Given the description of an element on the screen output the (x, y) to click on. 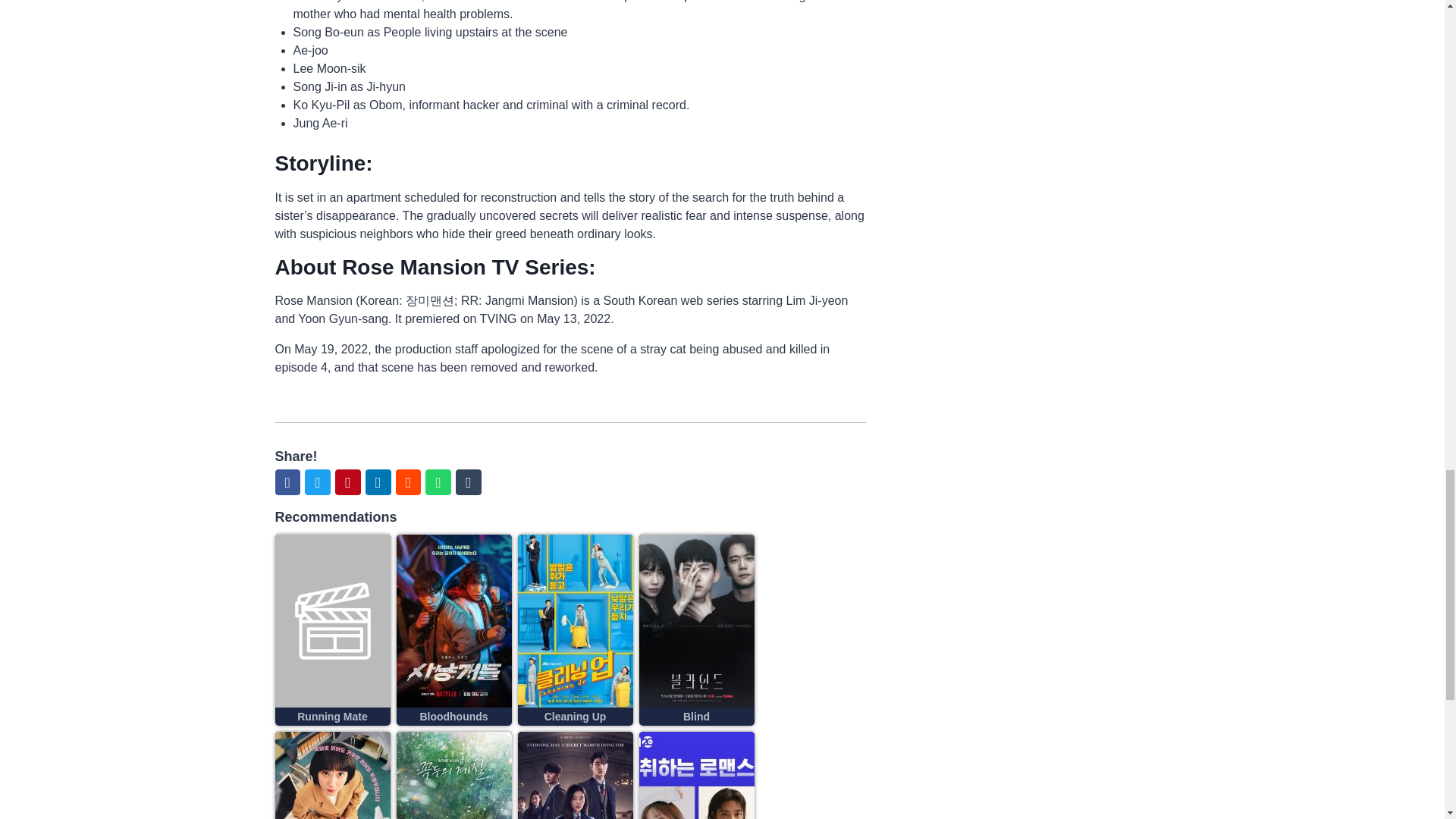
Kokdu-Season-of-Deity-TV-Series-Poster (453, 775)
Bloodhounds (453, 716)
Cleaning-Up-TV-Series-Poster (573, 620)
Extraordinary-Attorney-Woo-TV-Series-Poster (332, 775)
Juksun-Movie (332, 620)
Cleaning Up (575, 716)
Bloodhounds-TV-Series-Poster (453, 620)
Drunk-Romance-TV-Series-Picture (696, 775)
Hierarchy-TV-Series-Poster (573, 775)
Blind (696, 716)
Running Mate (332, 716)
Blind-TV-Series-Poster (696, 620)
